Given the description of an element on the screen output the (x, y) to click on. 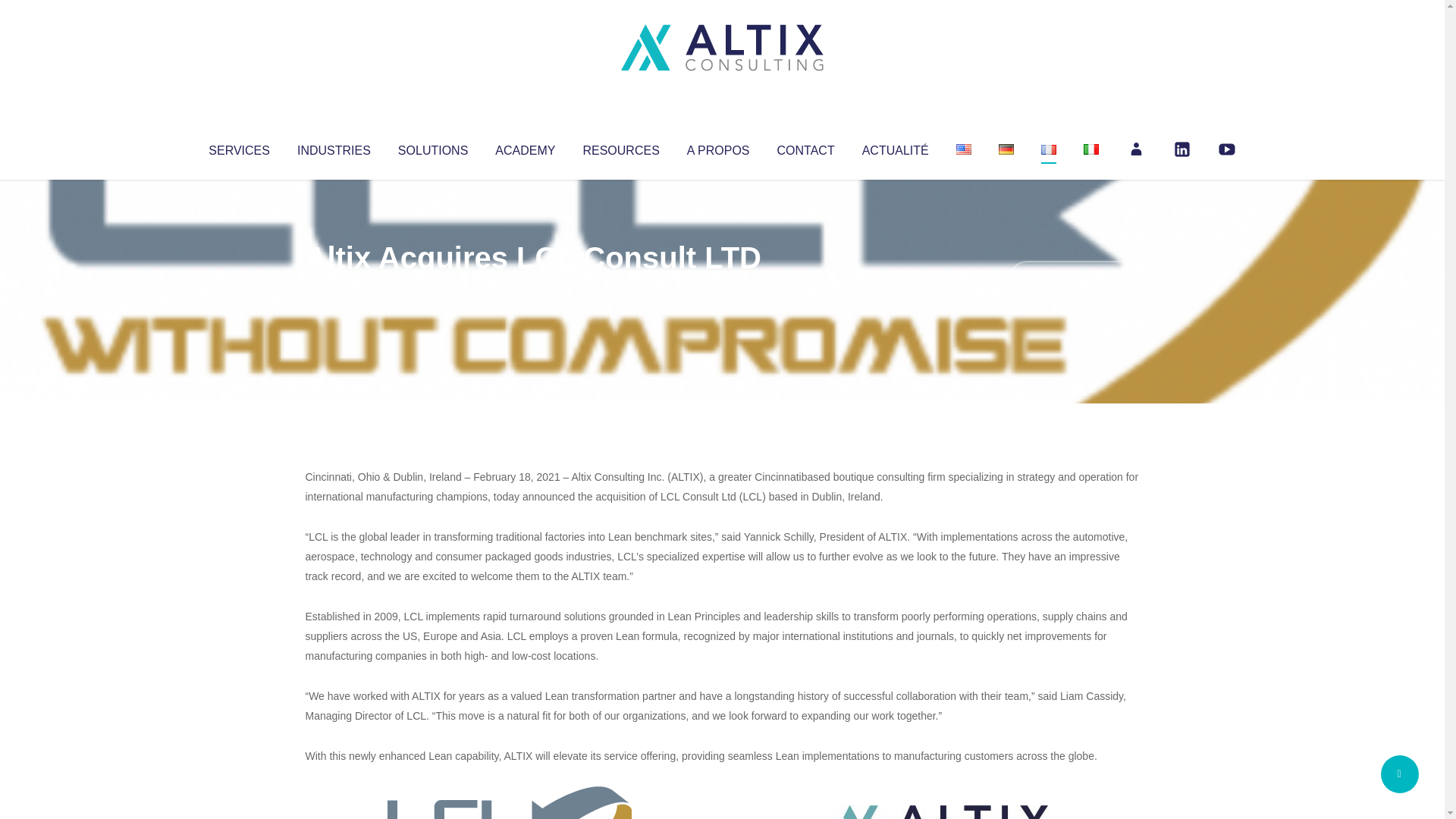
No Comments (1073, 278)
SERVICES (238, 146)
A PROPOS (718, 146)
Altix (333, 287)
RESOURCES (620, 146)
Articles par Altix (333, 287)
INDUSTRIES (334, 146)
Uncategorized (530, 287)
SOLUTIONS (432, 146)
ACADEMY (524, 146)
